Given the description of an element on the screen output the (x, y) to click on. 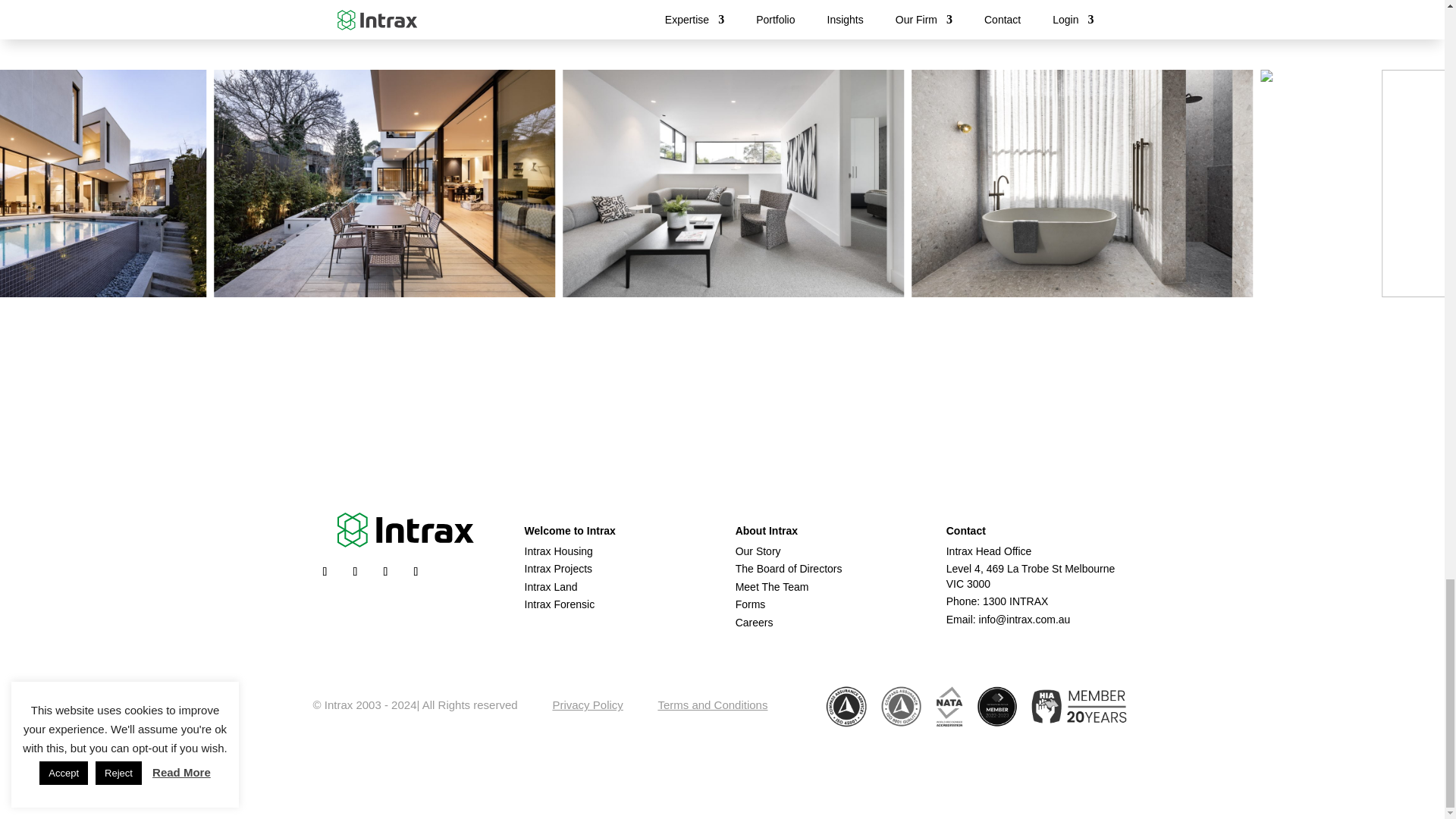
Intrax-Logo (405, 529)
Follow on Facebook (324, 571)
Follow on X (384, 571)
Follow on LinkedIn (354, 571)
Intrax-footer-logos-0624-1040px (975, 705)
Follow on Instagram (415, 571)
